Given the description of an element on the screen output the (x, y) to click on. 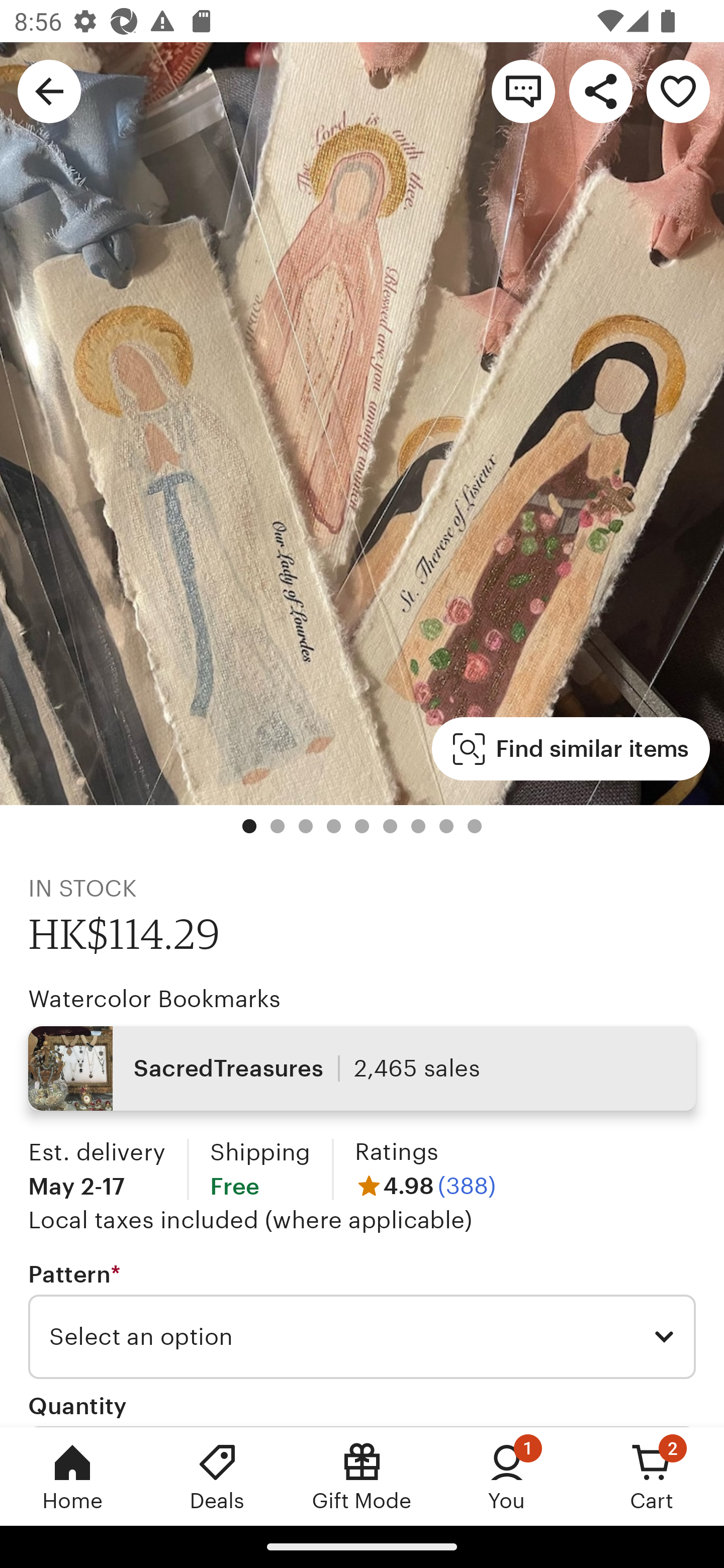
Navigate up (49, 90)
Contact shop (523, 90)
Share (600, 90)
Remove Watercolor Bookmarks from your favorites (678, 90)
Find similar items (571, 748)
Watercolor Bookmarks (154, 999)
SacredTreasures 2,465 sales (361, 1067)
Ratings (396, 1151)
4.98 (388) (424, 1185)
Pattern * Required Select an option (361, 1319)
Select an option (361, 1336)
Quantity (77, 1405)
Deals (216, 1475)
Gift Mode (361, 1475)
You, 1 new notification You (506, 1475)
Cart, 2 new notifications Cart (651, 1475)
